Given the description of an element on the screen output the (x, y) to click on. 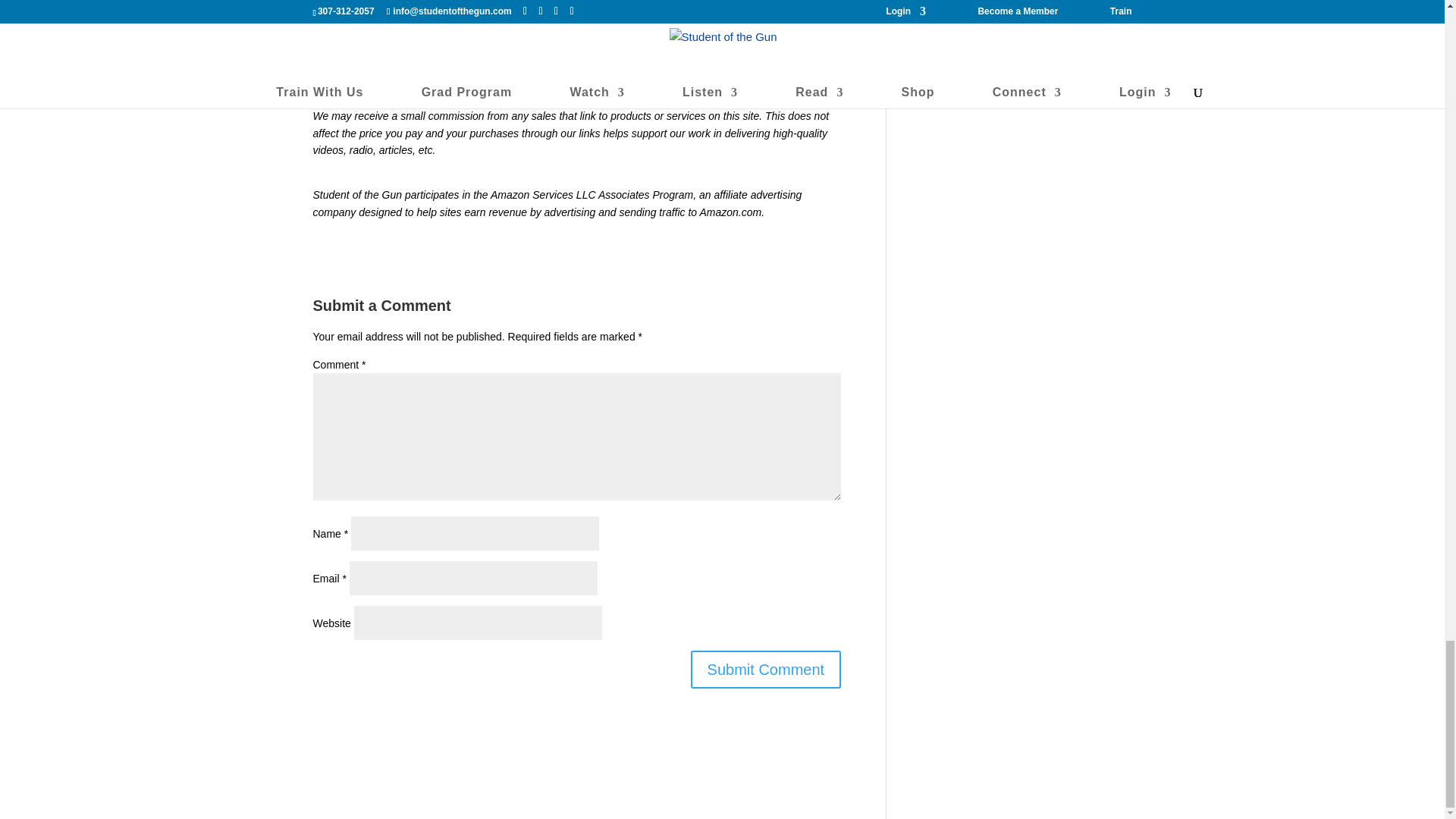
Submit Comment (765, 669)
